Given the description of an element on the screen output the (x, y) to click on. 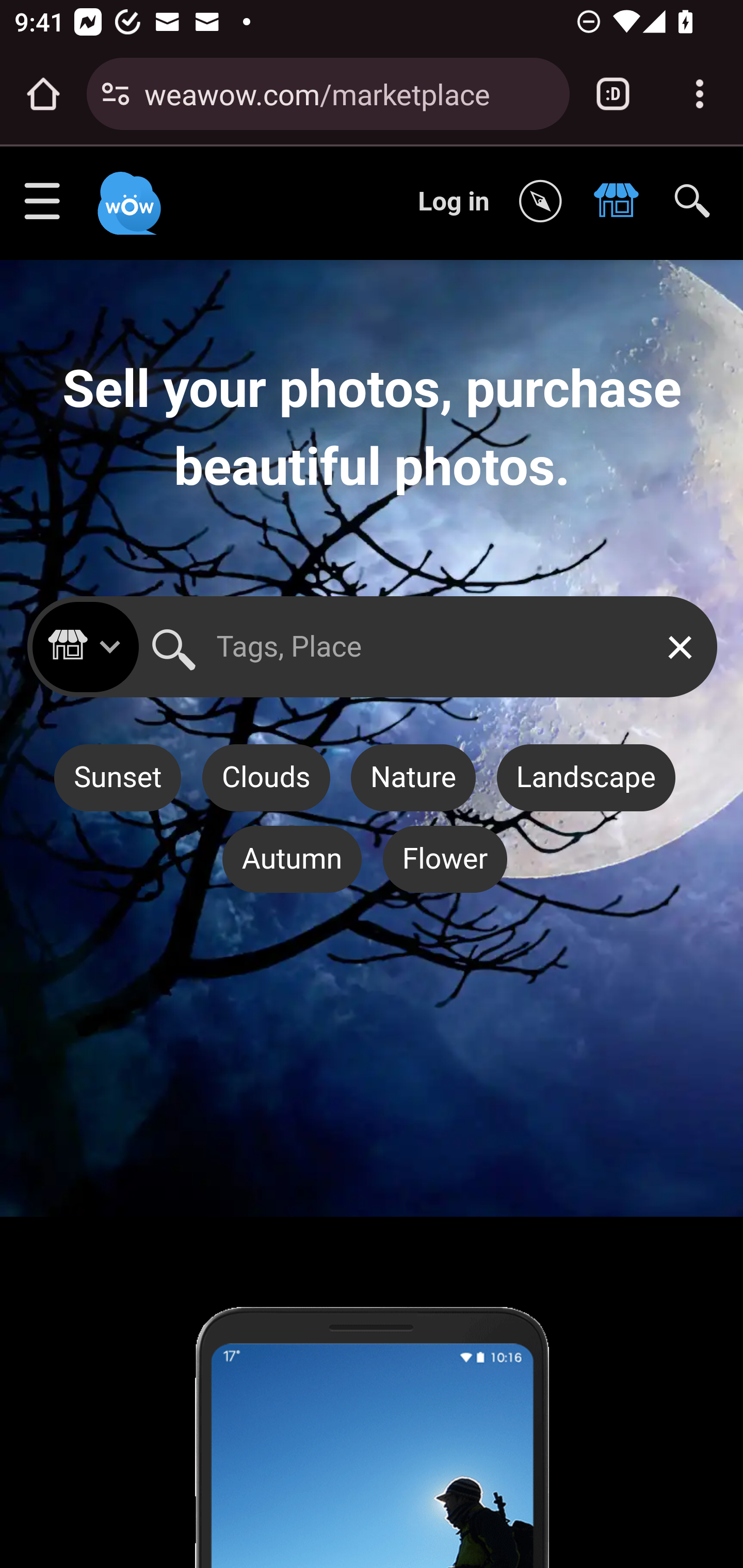
Open the home page (43, 93)
Connection is secure (115, 93)
Switch or close tabs (612, 93)
Customize and control Google Chrome (699, 93)
weawow.com/marketplace (349, 92)
Weawow (127, 194)
 (545, 201)
 (621, 201)
Log in (453, 201)
Sunset (117, 777)
Clouds (265, 777)
Nature (413, 777)
Landscape (585, 777)
Autumn (291, 859)
Flower (444, 859)
